Given the description of an element on the screen output the (x, y) to click on. 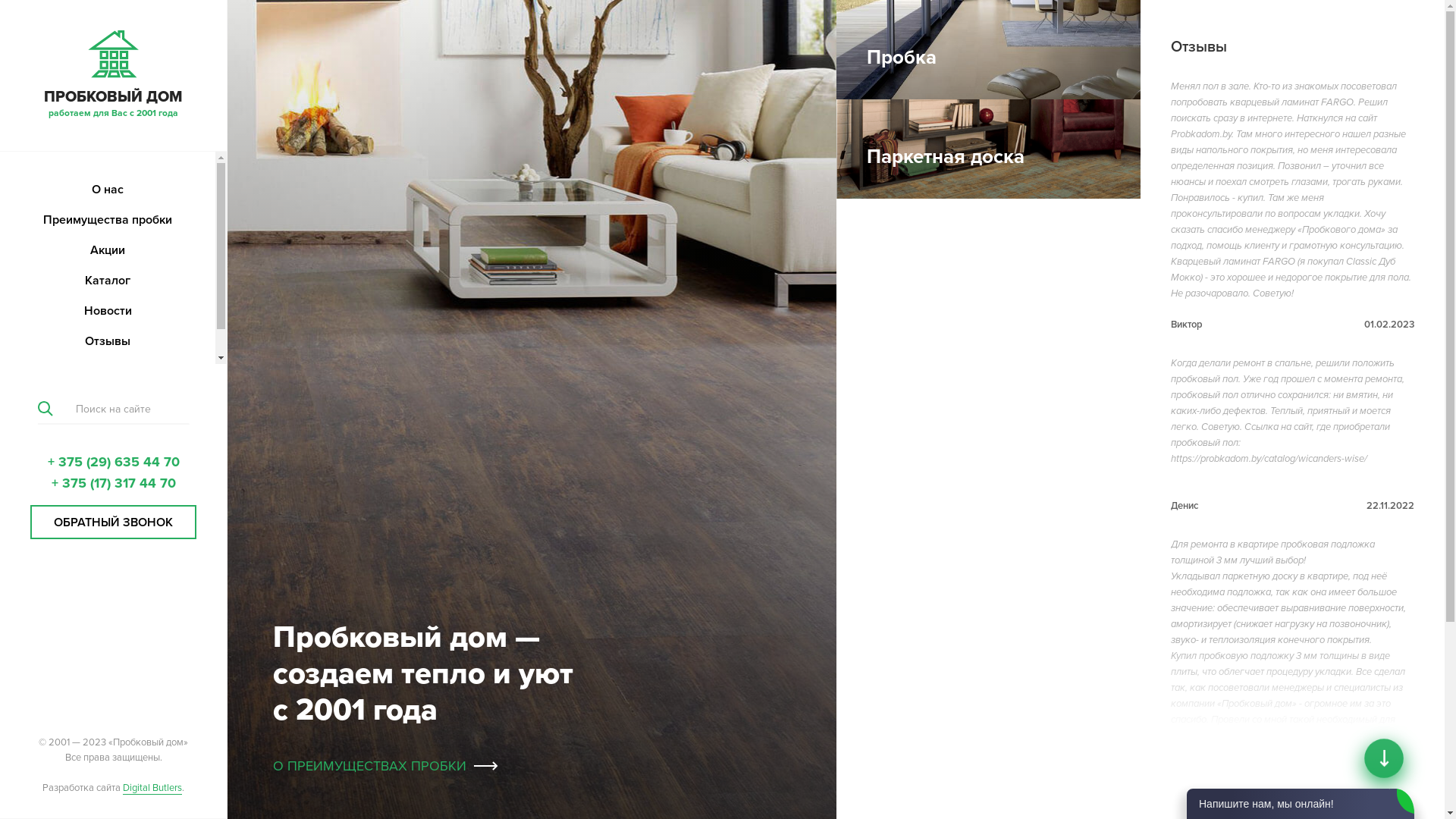
+ 375 (17) 317 44 70 Element type: text (113, 482)
Digital Butlers Element type: text (152, 787)
+ 375 (29) 635 44 70 Element type: text (112, 461)
